Given the description of an element on the screen output the (x, y) to click on. 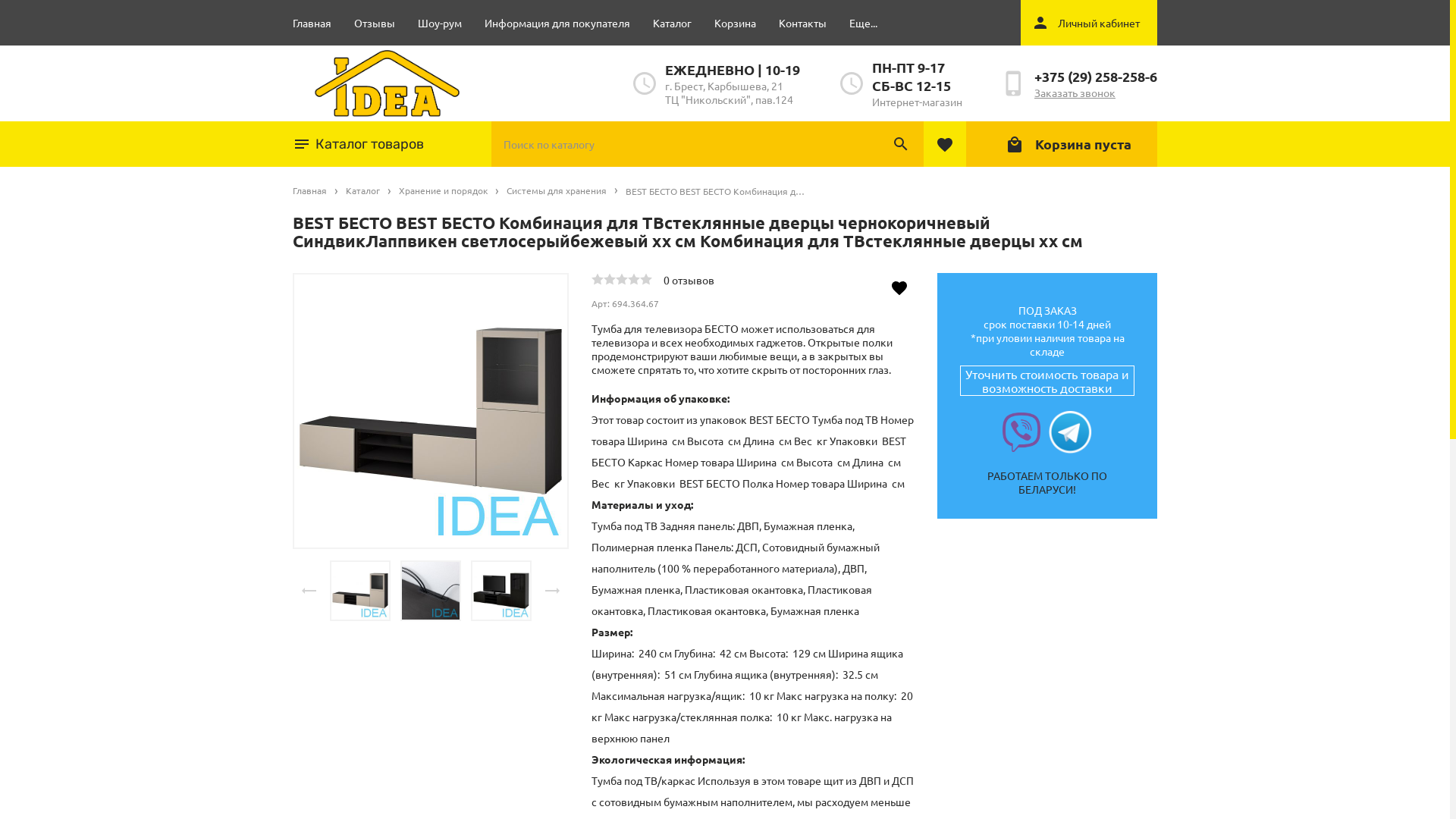
IDEABY Element type: hover (397, 83)
+375 (29) 258-258-6 Element type: text (1095, 75)
